Given the description of an element on the screen output the (x, y) to click on. 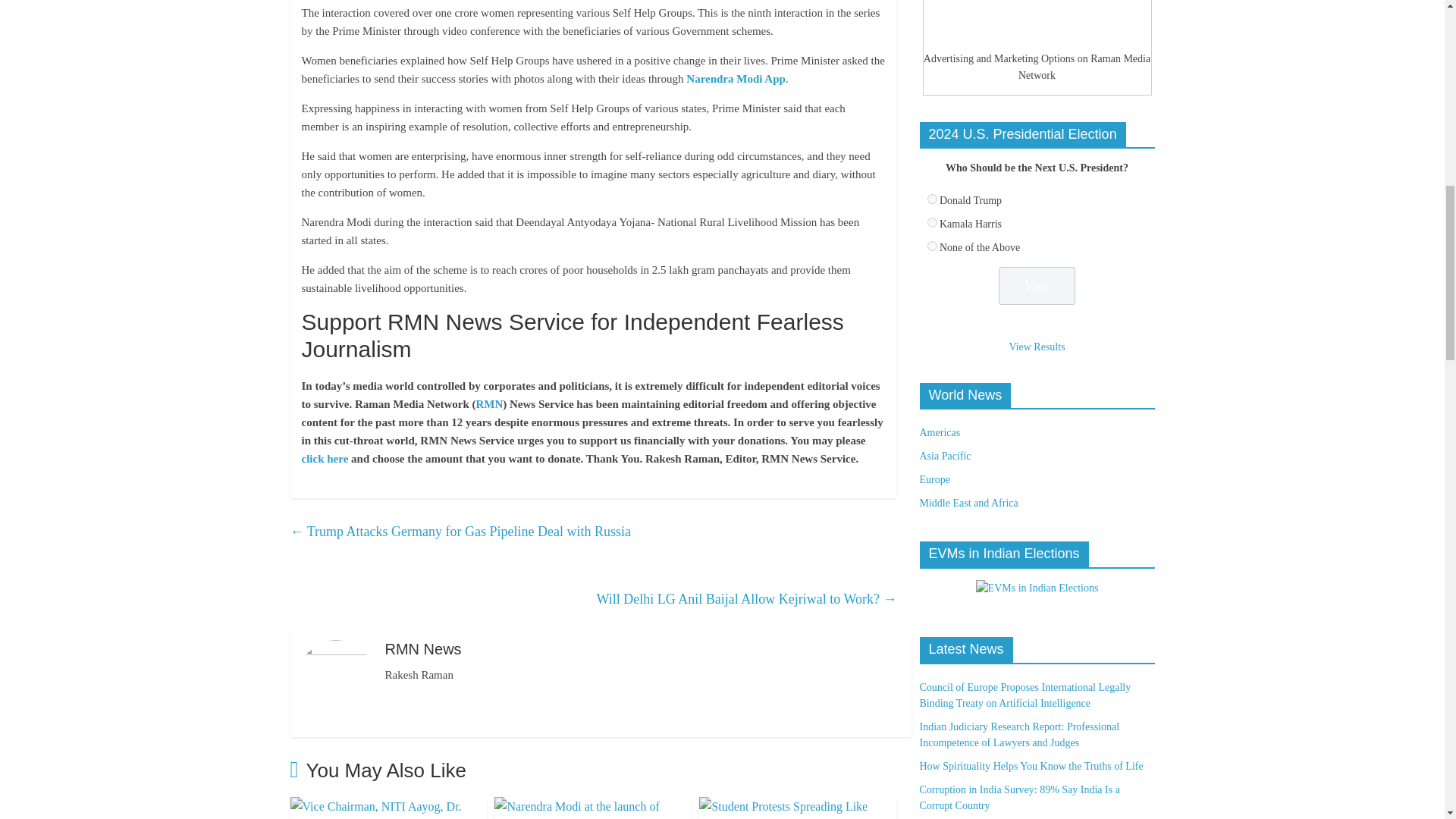
189 (931, 198)
190 (931, 222)
191 (931, 245)
   Vote    (1036, 285)
